Given the description of an element on the screen output the (x, y) to click on. 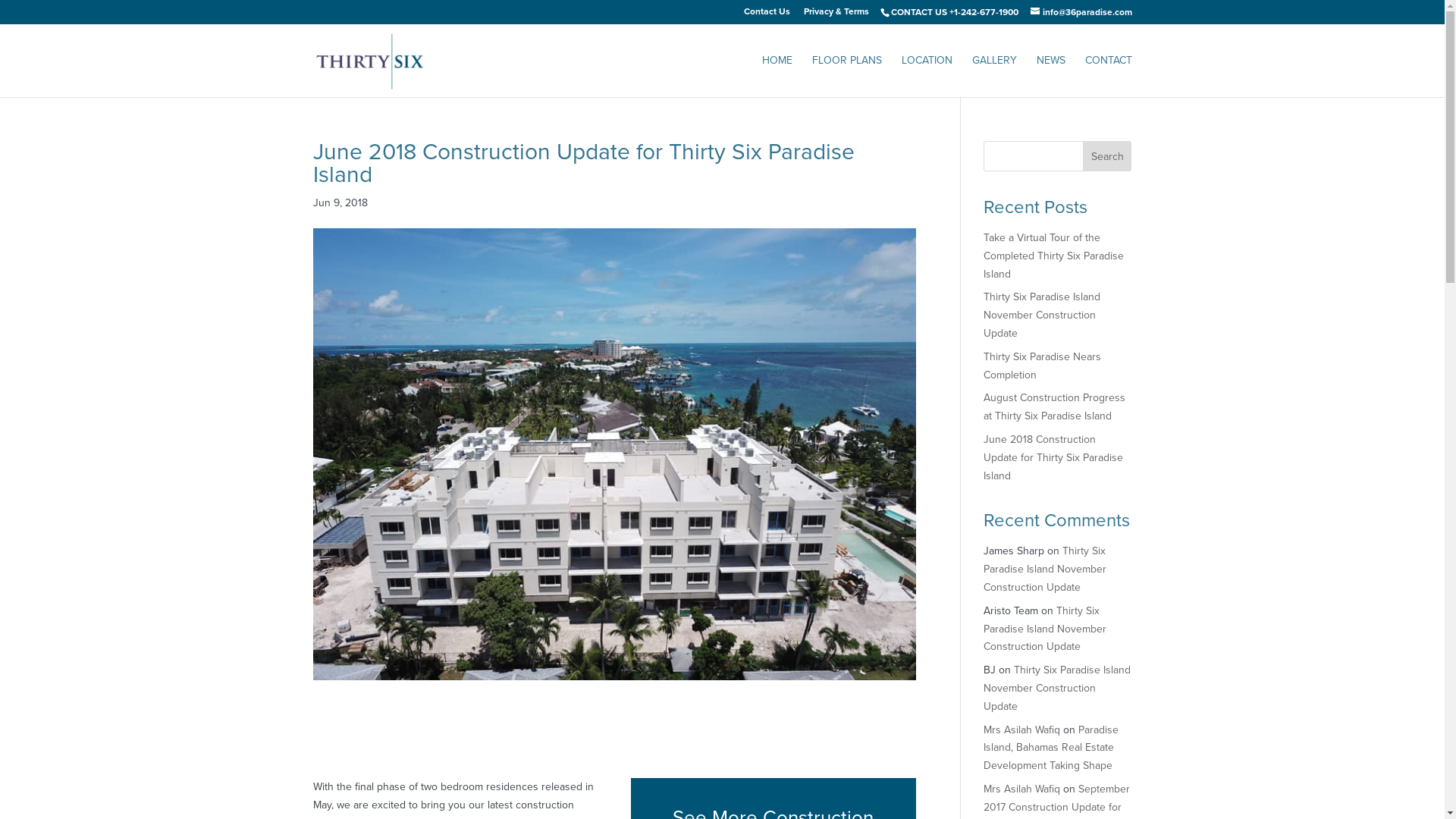
Thirty Six Paradise Island November Construction Update Element type: text (1044, 628)
CONTACT Element type: text (1107, 76)
GALLERY Element type: text (994, 76)
Thirty Six Paradise Island November Construction Update Element type: text (1044, 568)
LOCATION Element type: text (925, 76)
info@36paradise.com Element type: text (1080, 11)
Thirty Six Paradise Nears Completion Element type: text (1042, 365)
June 2018 Construction Update for Thirty Six Paradise Island Element type: text (1053, 457)
Thirty Six Paradise Island November Construction Update Element type: text (1056, 687)
Mrs Asilah Wafiq Element type: text (1021, 729)
Search Element type: text (1107, 156)
FLOOR PLANS Element type: text (846, 76)
August Construction Progress at Thirty Six Paradise Island Element type: text (1054, 406)
Privacy & Terms Element type: text (836, 14)
NEWS Element type: text (1049, 76)
HOME Element type: text (776, 76)
Contact Us Element type: text (766, 14)
Mrs Asilah Wafiq Element type: text (1021, 788)
Thirty Six Paradise Island November Construction Update Element type: text (1041, 314)
